Given the description of an element on the screen output the (x, y) to click on. 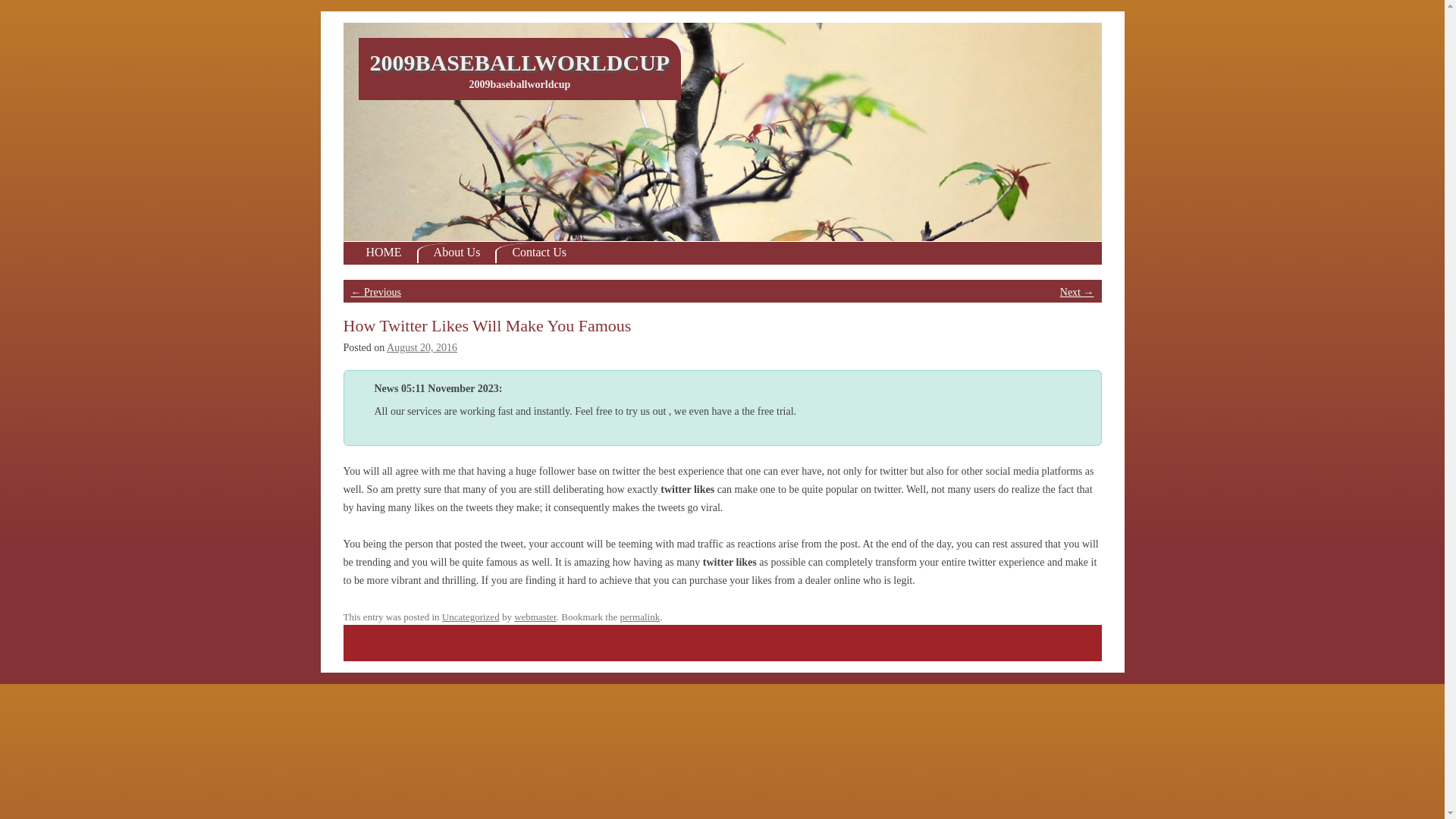
HOME Element type: text (383, 253)
August 20, 2016 Element type: text (421, 346)
Contact Us Element type: text (538, 253)
About Us Element type: text (456, 253)
Skip to primary content Element type: text (50, 16)
permalink Element type: text (640, 615)
2009BASEBALLWORLDCUP Element type: text (520, 60)
  Element type: text (659, 487)
Uncategorized Element type: text (470, 615)
webmaster Element type: text (535, 615)
